Given the description of an element on the screen output the (x, y) to click on. 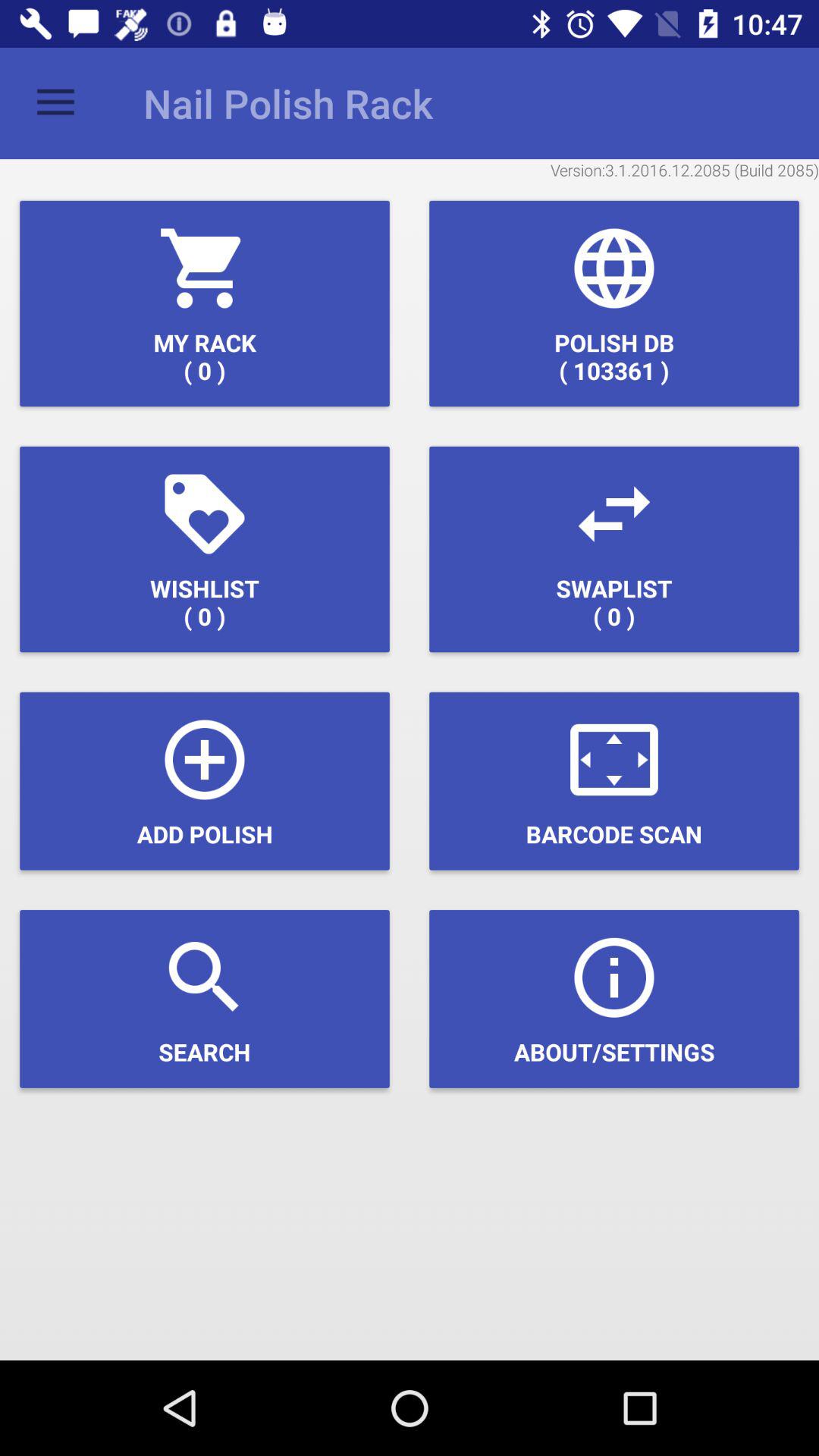
jump to the my rack
( 0 ) item (204, 303)
